Given the description of an element on the screen output the (x, y) to click on. 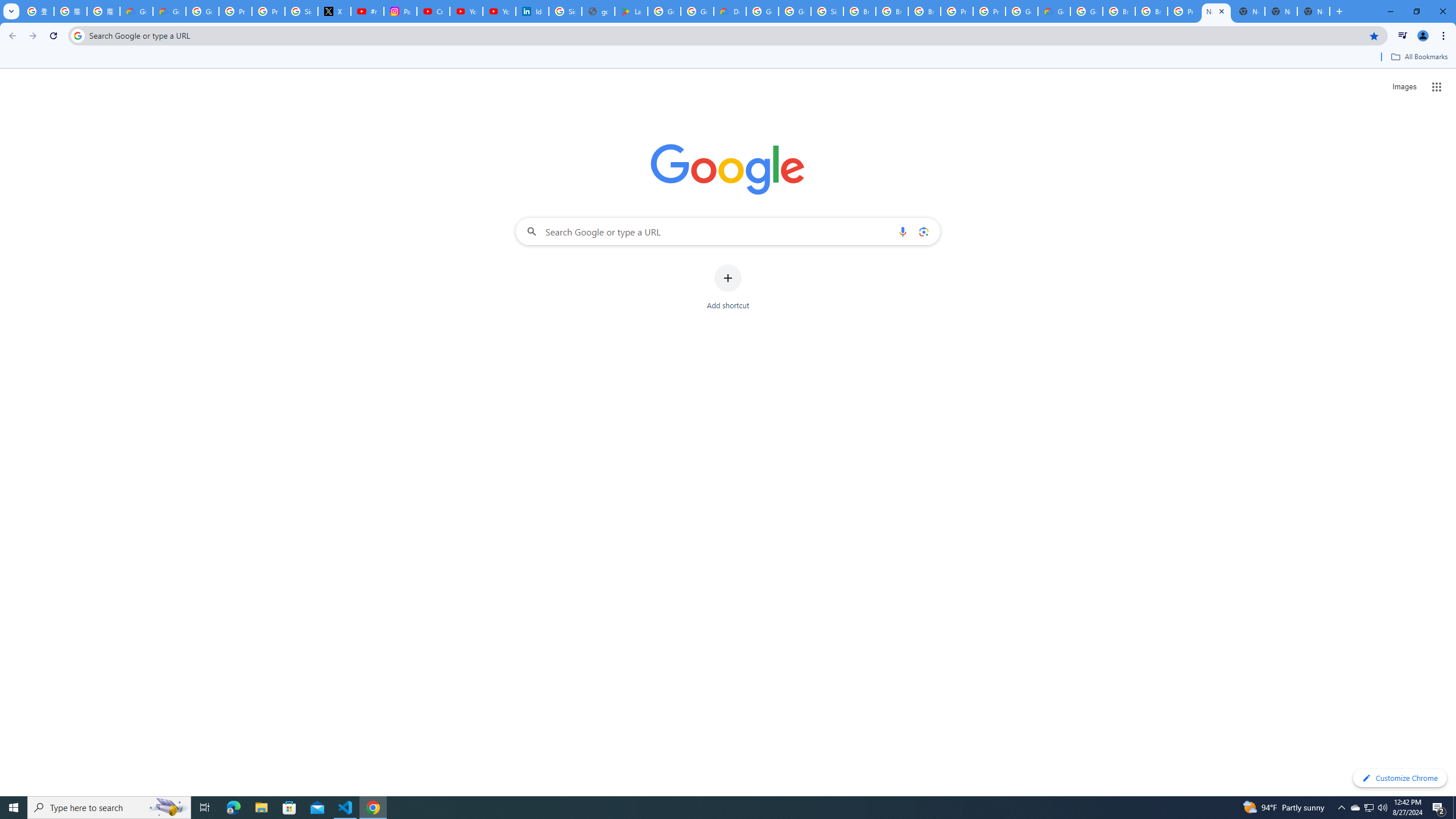
X (334, 11)
Search Google or type a URL (727, 230)
Google Cloud Platform (1021, 11)
#nbabasketballhighlights - YouTube (367, 11)
YouTube Culture & Trends - YouTube Top 10, 2021 (499, 11)
google_privacy_policy_en.pdf (598, 11)
Google Cloud Privacy Notice (136, 11)
Google Cloud Privacy Notice (169, 11)
Sign in - Google Accounts (827, 11)
Browse Chrome as a guest - Computer - Google Chrome Help (1118, 11)
